Given the description of an element on the screen output the (x, y) to click on. 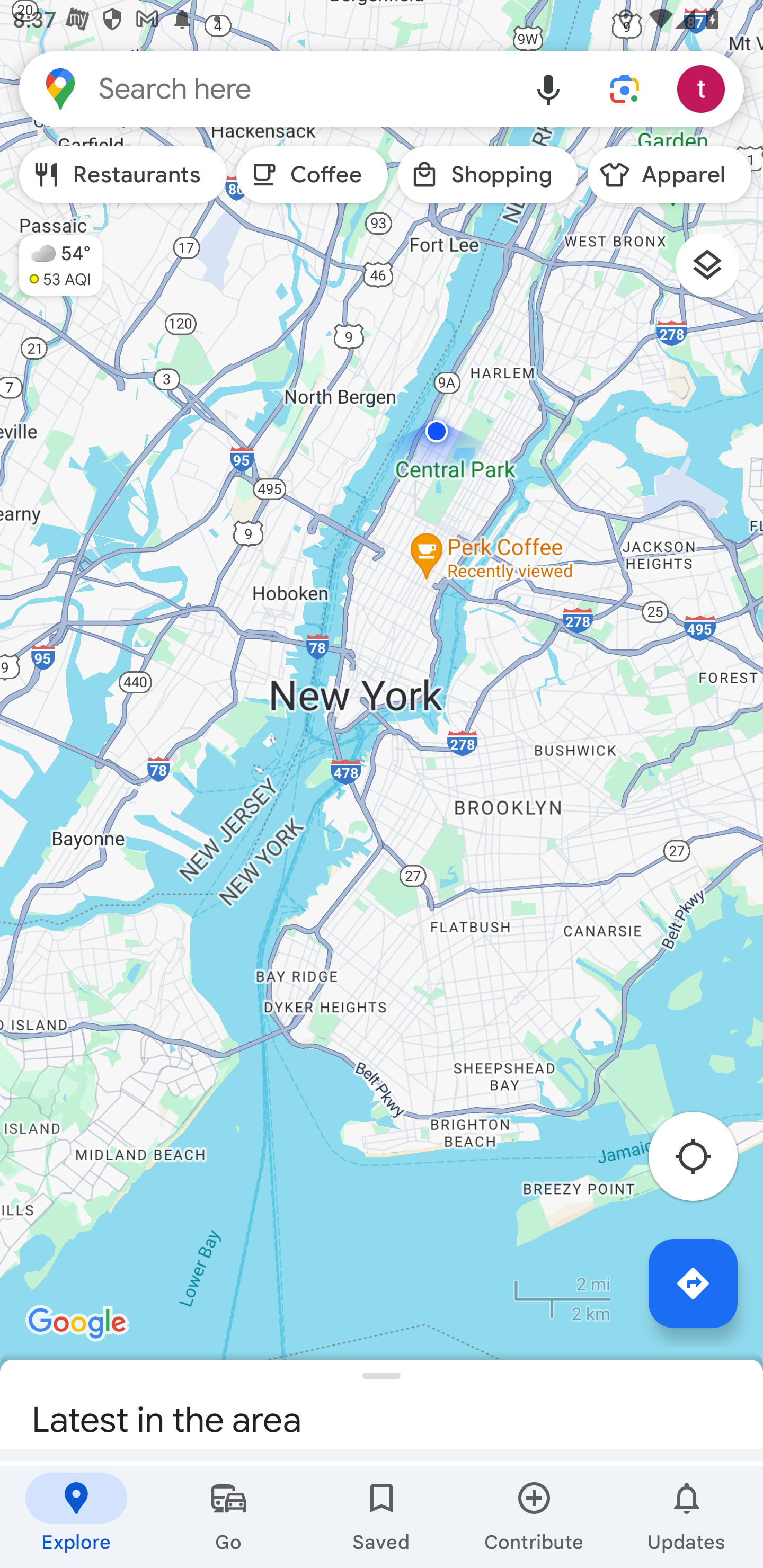
Search here (264, 88)
Voice search (548, 88)
Lens in Maps (624, 88)
Restaurants Search for Restaurants (122, 174)
Coffee Search for Coffee (311, 174)
Shopping Search for Shopping (487, 174)
Apparel Search for Apparel (669, 174)
Cloudy, 54°, Moderate, 53 AQI 54° 53 AQI (50, 257)
Layers (716, 271)
Re-center map to your location (702, 1161)
Directions (692, 1283)
Go (228, 1517)
Saved (381, 1517)
Contribute (533, 1517)
Updates (686, 1517)
